Given the description of an element on the screen output the (x, y) to click on. 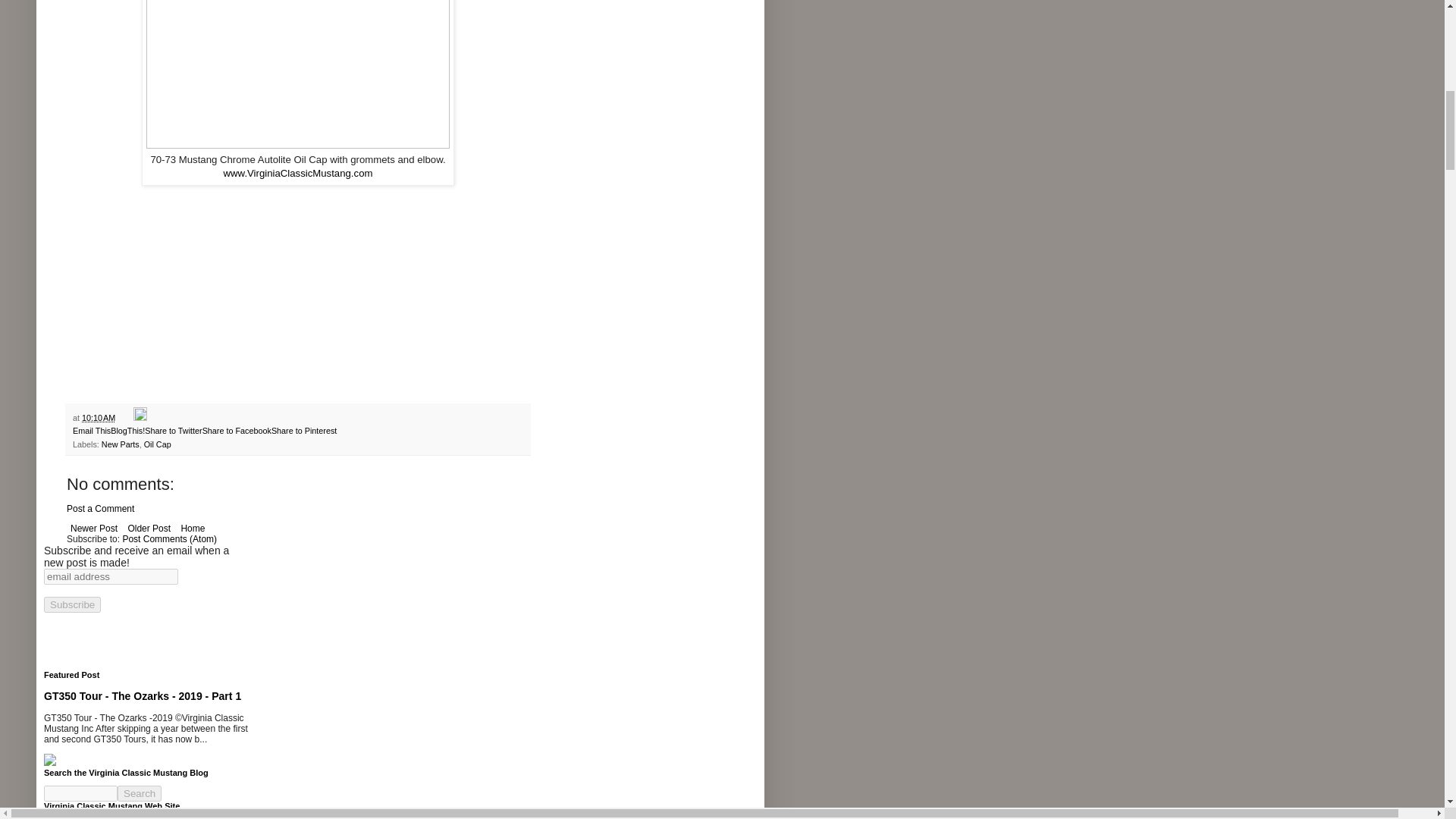
Subscribe (71, 604)
Search (139, 793)
Share to Twitter (173, 429)
Share to Pinterest (303, 429)
Older Post (148, 528)
search (139, 793)
Newer Post (93, 528)
New Parts (120, 443)
BlogThis! (127, 429)
Search (139, 793)
Share to Facebook (236, 429)
Search (139, 793)
BlogThis! (127, 429)
GT350 Tour - The Ozarks - 2019 - Part 1 (142, 695)
